Given the description of an element on the screen output the (x, y) to click on. 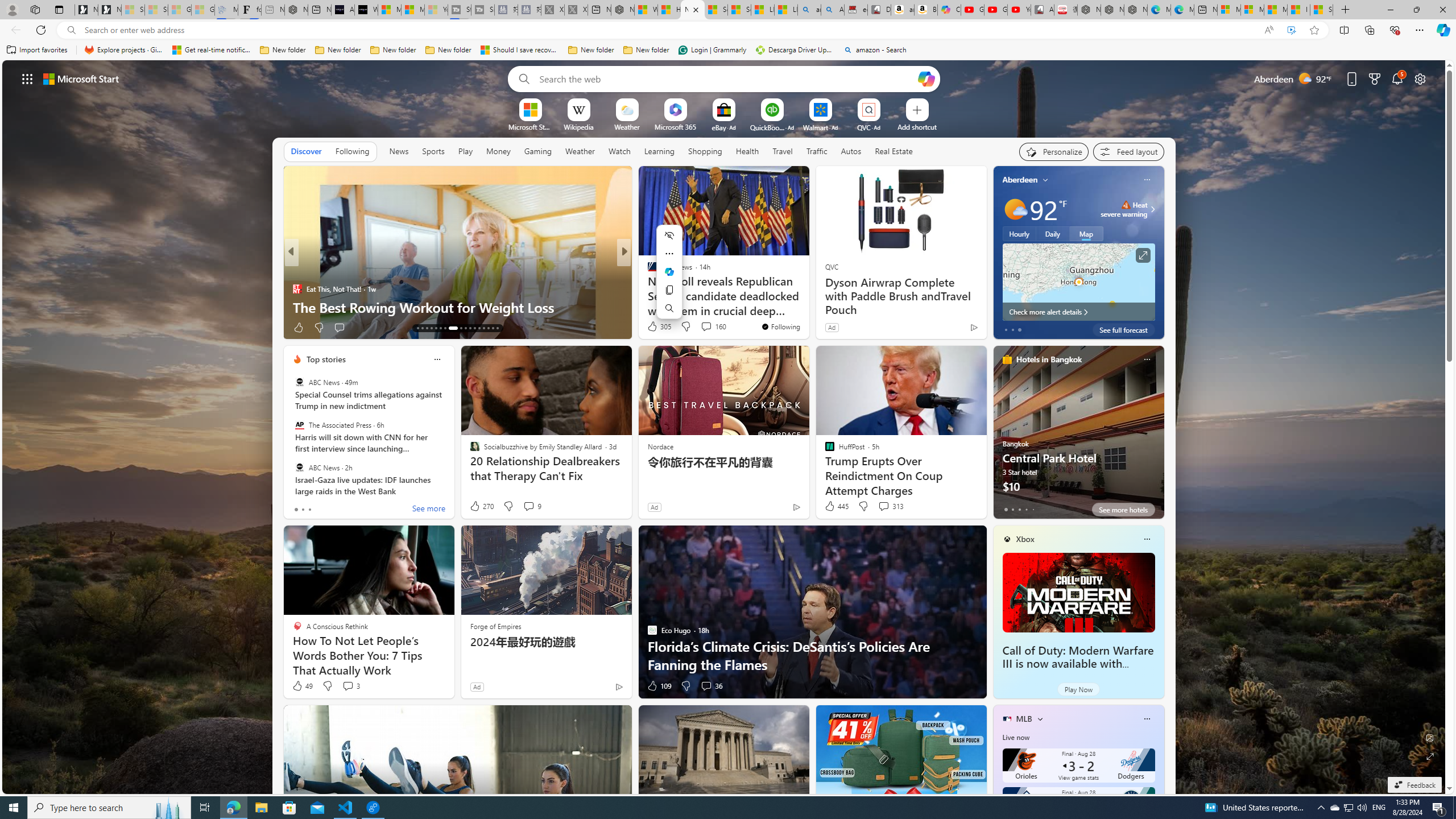
Discover (306, 151)
Weather (579, 151)
Streaming Coverage | T3 - Sleeping (459, 9)
